Given the description of an element on the screen output the (x, y) to click on. 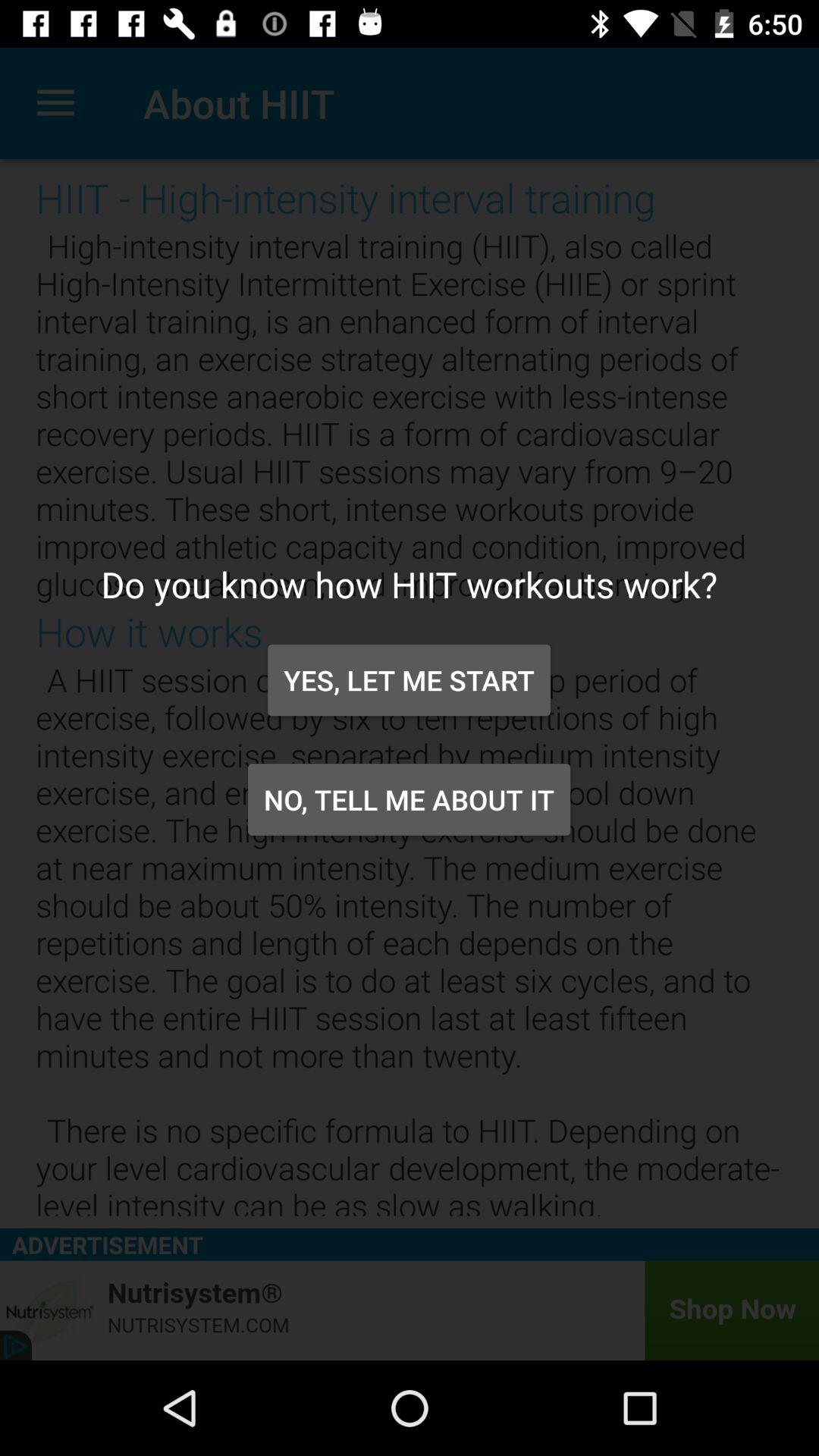
click icon above no tell me icon (408, 680)
